Given the description of an element on the screen output the (x, y) to click on. 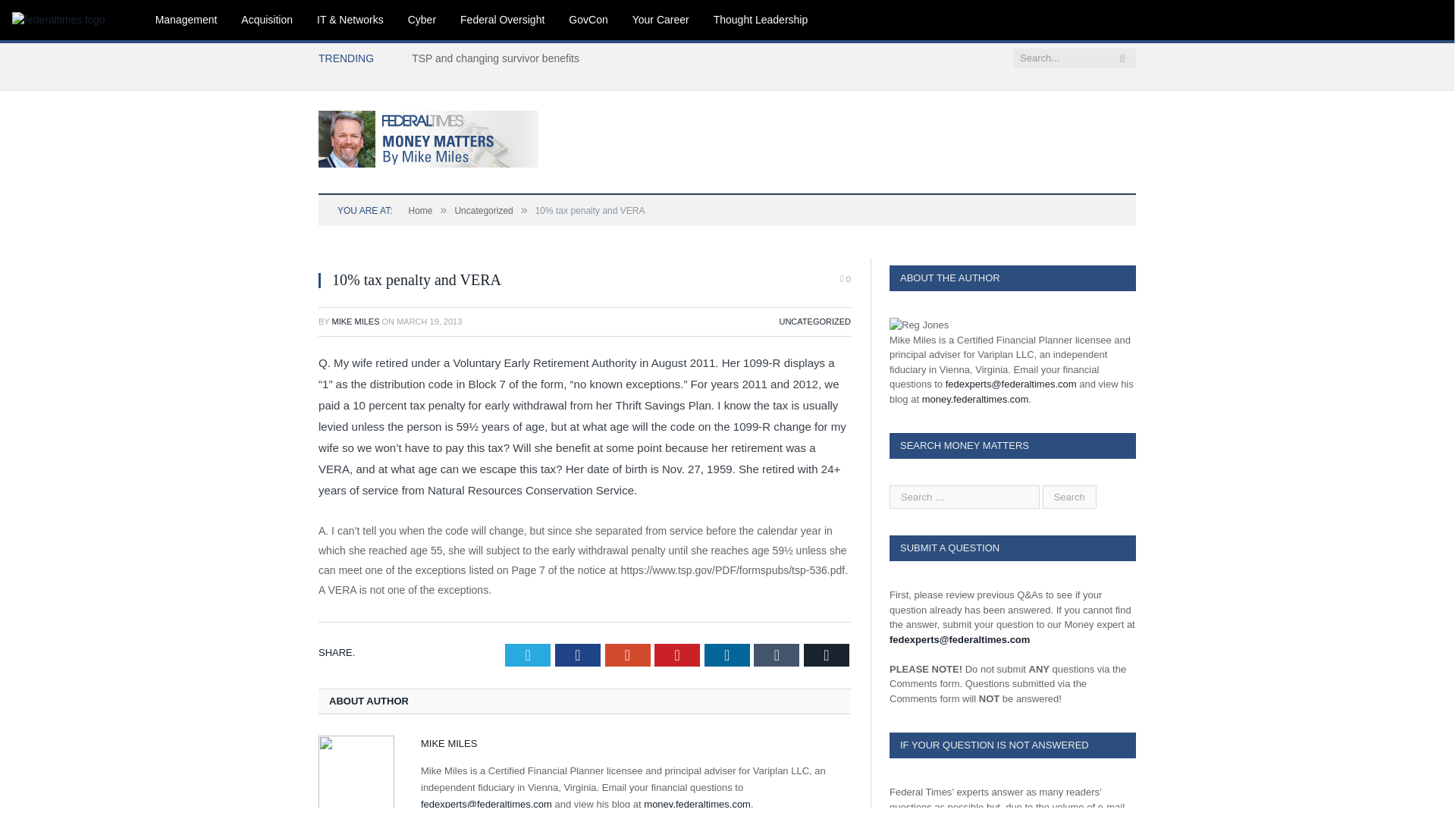
Search (1069, 496)
Home (419, 210)
Email (825, 654)
Federal Oversight (502, 19)
Search (1069, 496)
TSP and changing survivor benefits (499, 58)
Facebook (576, 654)
MIKE MILES (355, 320)
Tweet It (527, 654)
money.federaltimes.com (697, 803)
